Given the description of an element on the screen output the (x, y) to click on. 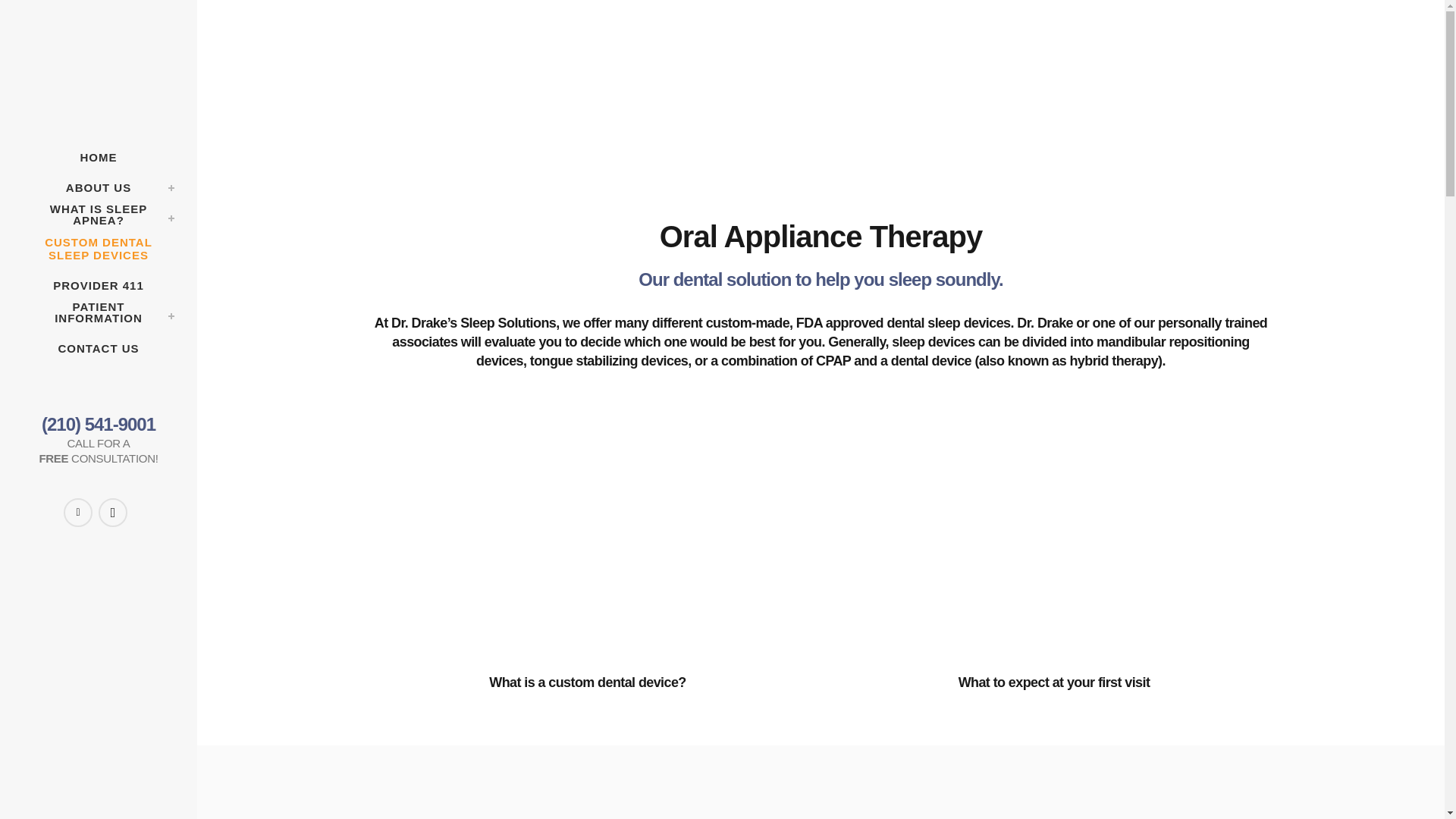
PATIENT INFORMATION (98, 317)
ABOUT US (98, 187)
CUSTOM DENTAL SLEEP DEVICES (98, 253)
PROVIDER 411 (98, 286)
HOME (98, 157)
WHAT IS SLEEP APNEA? (98, 219)
